Given the description of an element on the screen output the (x, y) to click on. 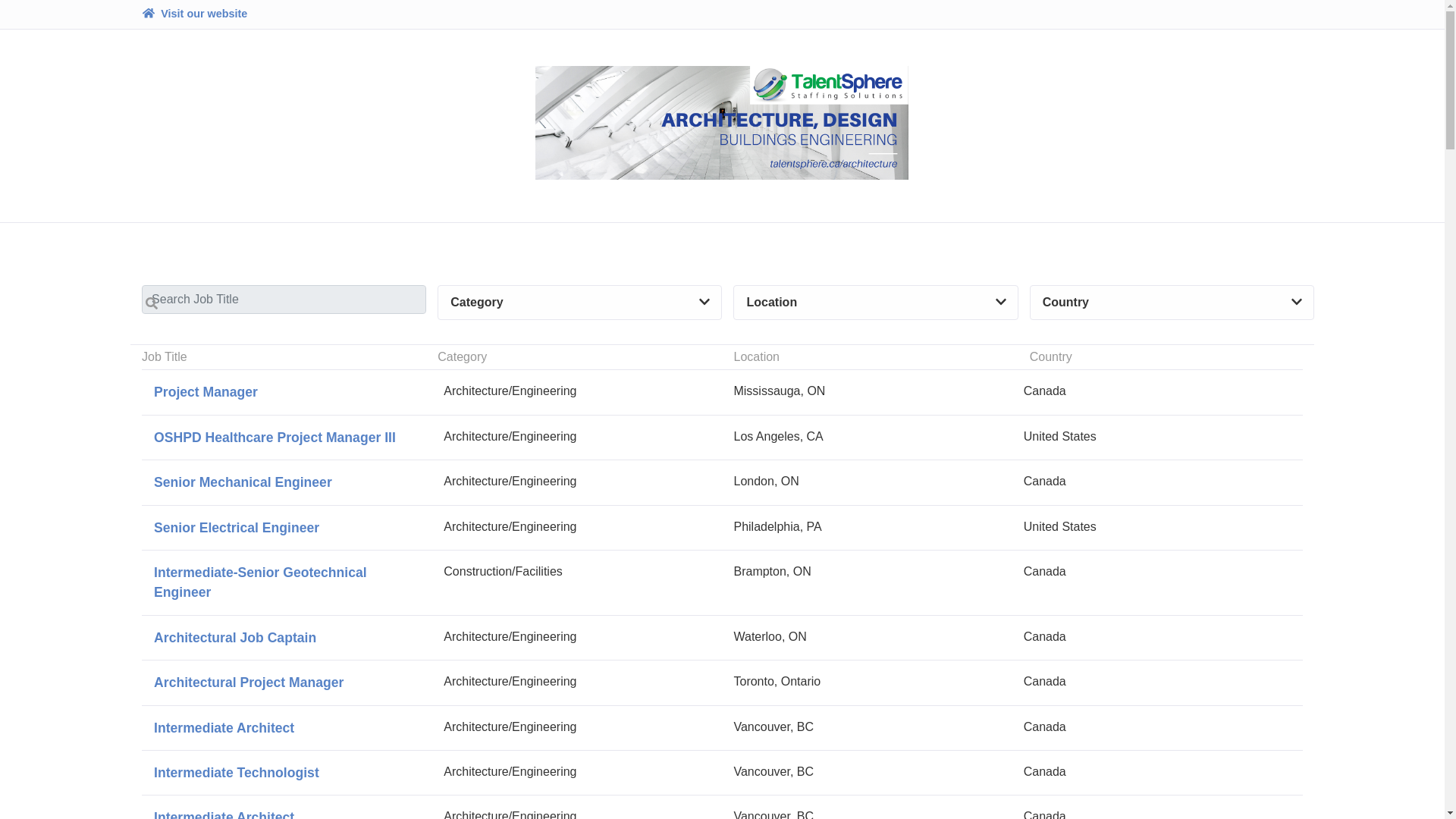
Category (580, 303)
Location (875, 303)
Visit our website (194, 13)
Country (1171, 303)
